Given the description of an element on the screen output the (x, y) to click on. 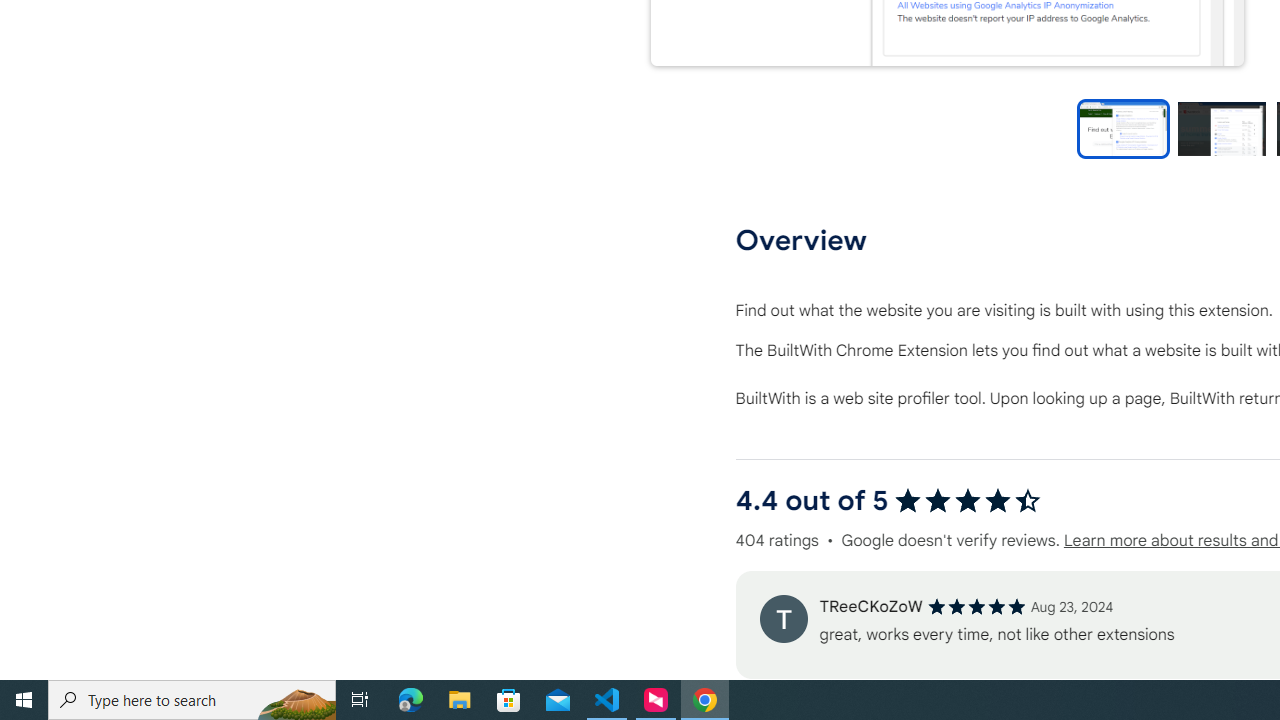
Preview slide 2 (1221, 128)
Preview slide 1 (1123, 128)
4.4 out of 5 stars (967, 500)
Review's profile picture (783, 618)
5 out of 5 stars (975, 606)
